Given the description of an element on the screen output the (x, y) to click on. 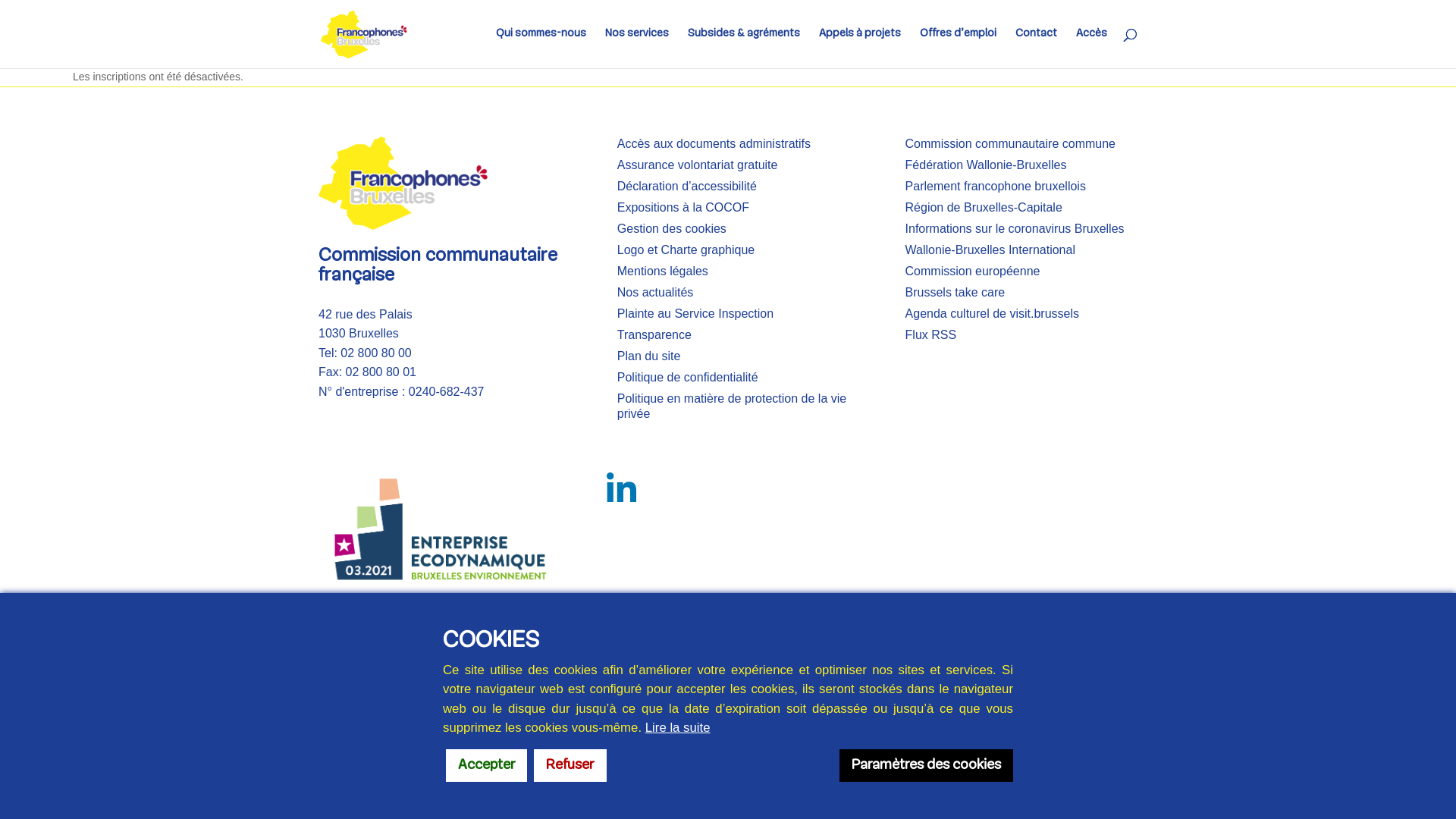
Parlement francophone bruxellois Element type: text (995, 185)
Commission communautaire commune Element type: text (1010, 143)
Transparence Element type: text (654, 334)
Nos services Element type: text (636, 48)
Gestion des cookies Element type: text (671, 228)
Contact Element type: text (1036, 48)
Wallonie-Bruxelles International Element type: text (990, 249)
Informations sur le coronavirus Bruxelles Element type: text (1014, 228)
Agenda culturel de visit.brussels Element type: text (992, 313)
Lire la suite Element type: text (677, 727)
Assurance volontariat gratuite Element type: text (697, 164)
Brussels take care Element type: text (955, 291)
Refuser Element type: text (569, 765)
Accepter Element type: text (486, 765)
Plan du site Element type: text (648, 355)
Logo et Charte graphique Element type: text (685, 249)
Skip to content Element type: text (0, 0)
Qui sommes-nous Element type: text (540, 48)
Plainte au Service Inspection Element type: text (695, 313)
Flux RSS Element type: text (931, 334)
